Given the description of an element on the screen output the (x, y) to click on. 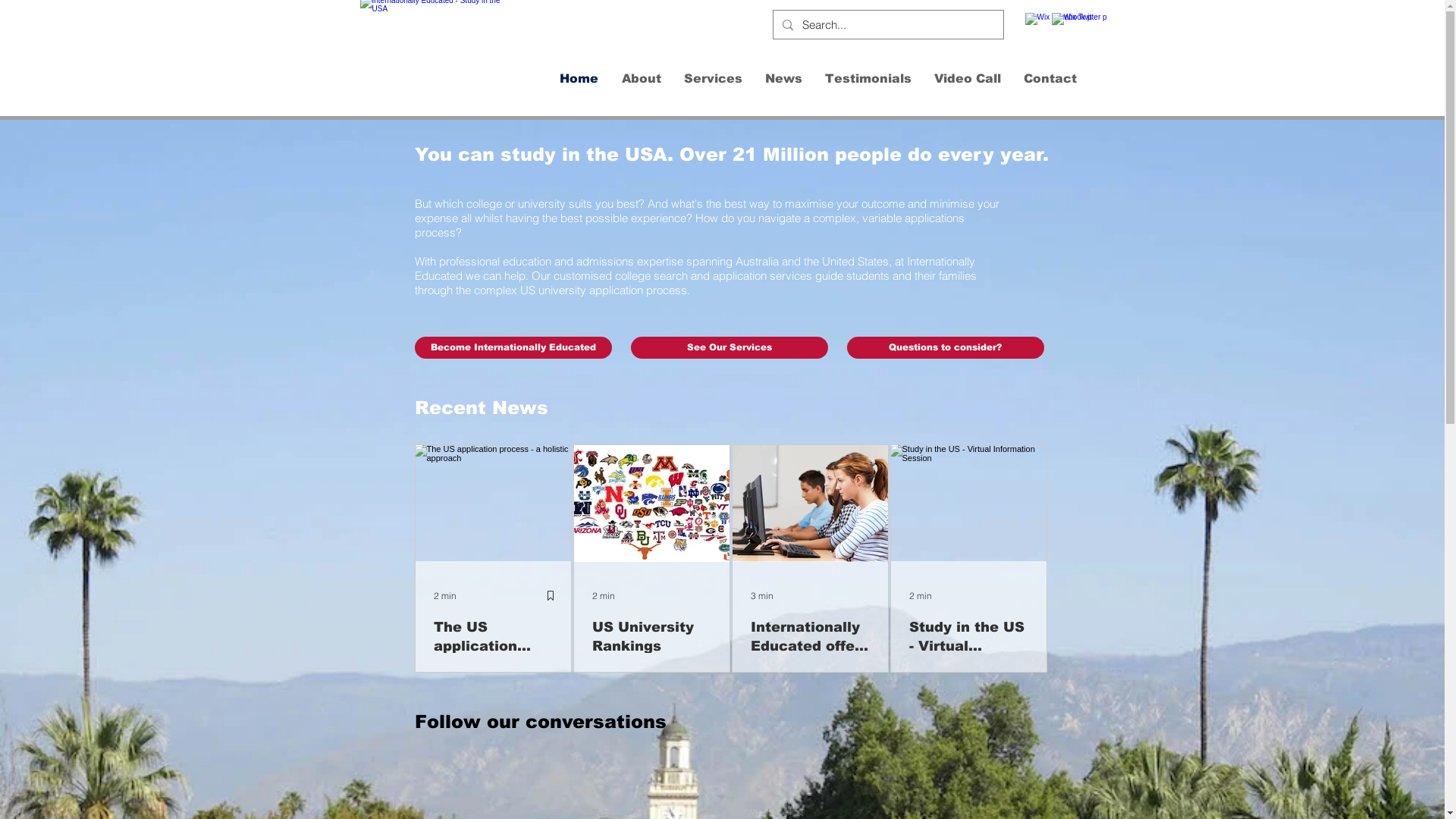
See Our Services Element type: text (729, 347)
Study in the US - Virtual Information Session Element type: text (967, 636)
US University Rankings Element type: text (650, 636)
Questions to consider? Element type: text (944, 347)
News Element type: text (783, 78)
Become Internationally Educated Element type: text (512, 347)
Testimonials Element type: text (867, 78)
Home Element type: text (578, 78)
The US application process - a holistic approach Element type: text (492, 636)
About Element type: text (640, 78)
Services Element type: text (712, 78)
Contact Element type: text (1049, 78)
Video Call Element type: text (966, 78)
